Given the description of an element on the screen output the (x, y) to click on. 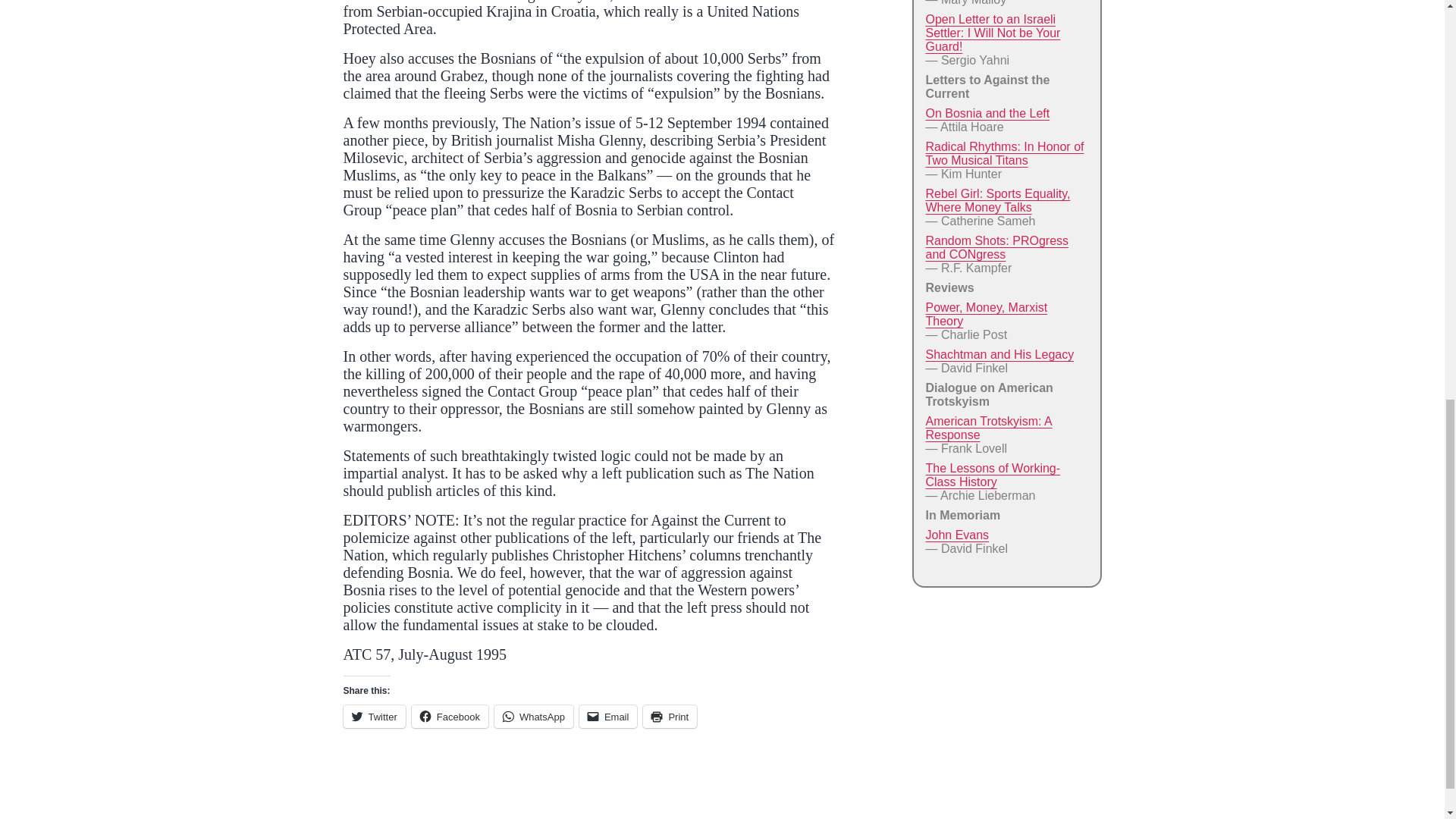
John Evans (956, 534)
Rebel Girl: Sports Equality, Where Money Talks (997, 200)
Open Letter to an Israeli Settler: I Will Not be Your Guard! (991, 33)
Click to share on WhatsApp (534, 716)
Random Shots: PROgress and CONgress (996, 247)
Power, Money, Marxist Theory (985, 314)
American Trotskyism: A Response (987, 427)
The Lessons of Working-Class History (991, 474)
Click to share on Facebook (449, 716)
Click to email a link to a friend (608, 716)
Click to share on Twitter (373, 716)
Radical Rhythms: In Honor of Two Musical Titans (1003, 153)
On Bosnia and the Left (986, 113)
Twitter (373, 716)
Shachtman and His Legacy (999, 354)
